Given the description of an element on the screen output the (x, y) to click on. 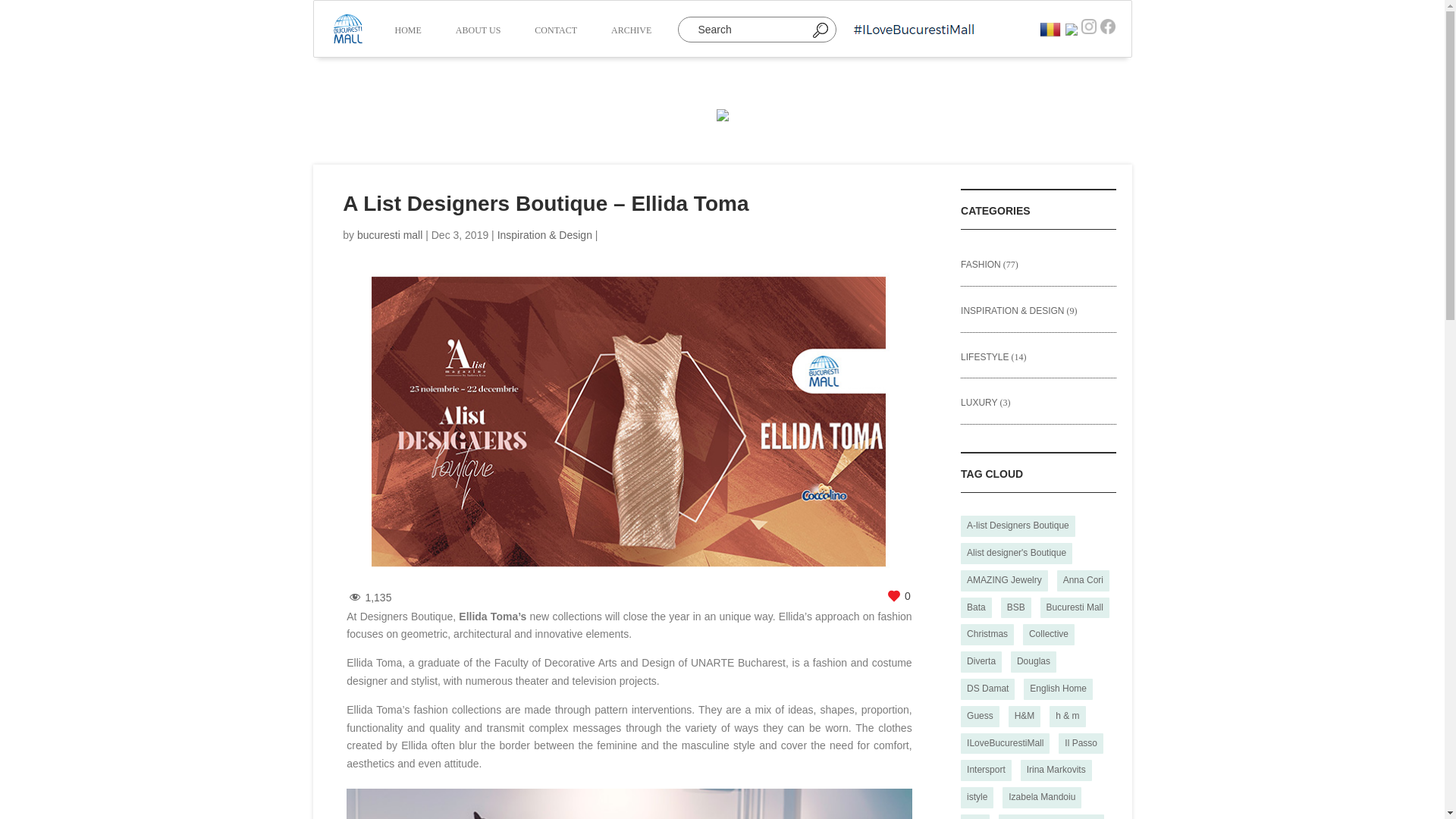
bucuresti mall (389, 234)
ARCHIVE (631, 32)
CONTACT (556, 32)
Posts by bucuresti mall (389, 234)
HOME (407, 32)
ABOUT US (478, 32)
